Given the description of an element on the screen output the (x, y) to click on. 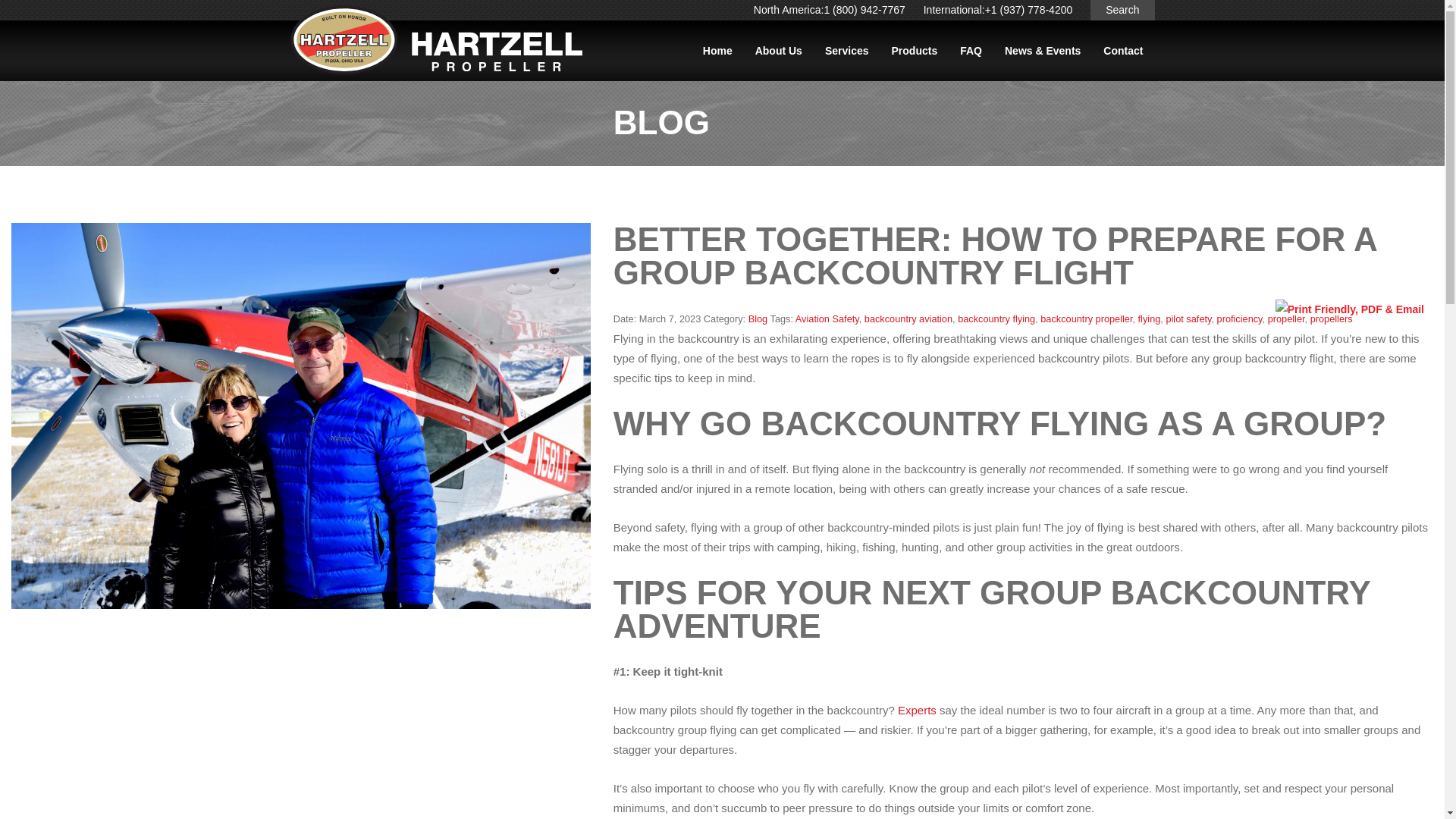
Hartzell Propeller (434, 43)
